Given the description of an element on the screen output the (x, y) to click on. 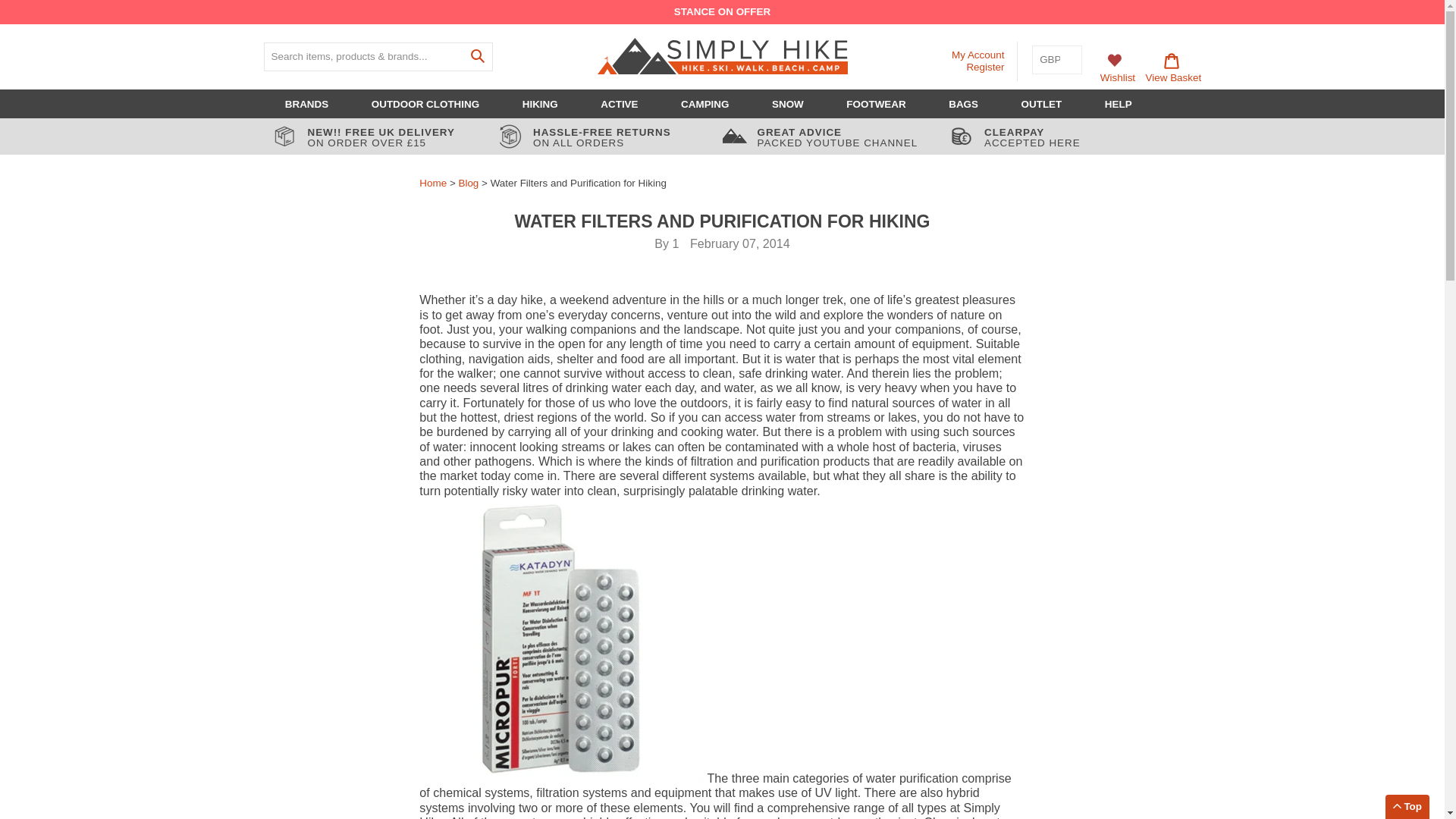
HIKING (540, 103)
Register (985, 67)
ACTIVE (618, 103)
BRANDS (307, 103)
SNOW (787, 103)
BAGS (962, 103)
CAMPING (704, 103)
HELP (1118, 103)
OUTLET (1041, 103)
OUTDOOR CLOTHING (425, 103)
